Given the description of an element on the screen output the (x, y) to click on. 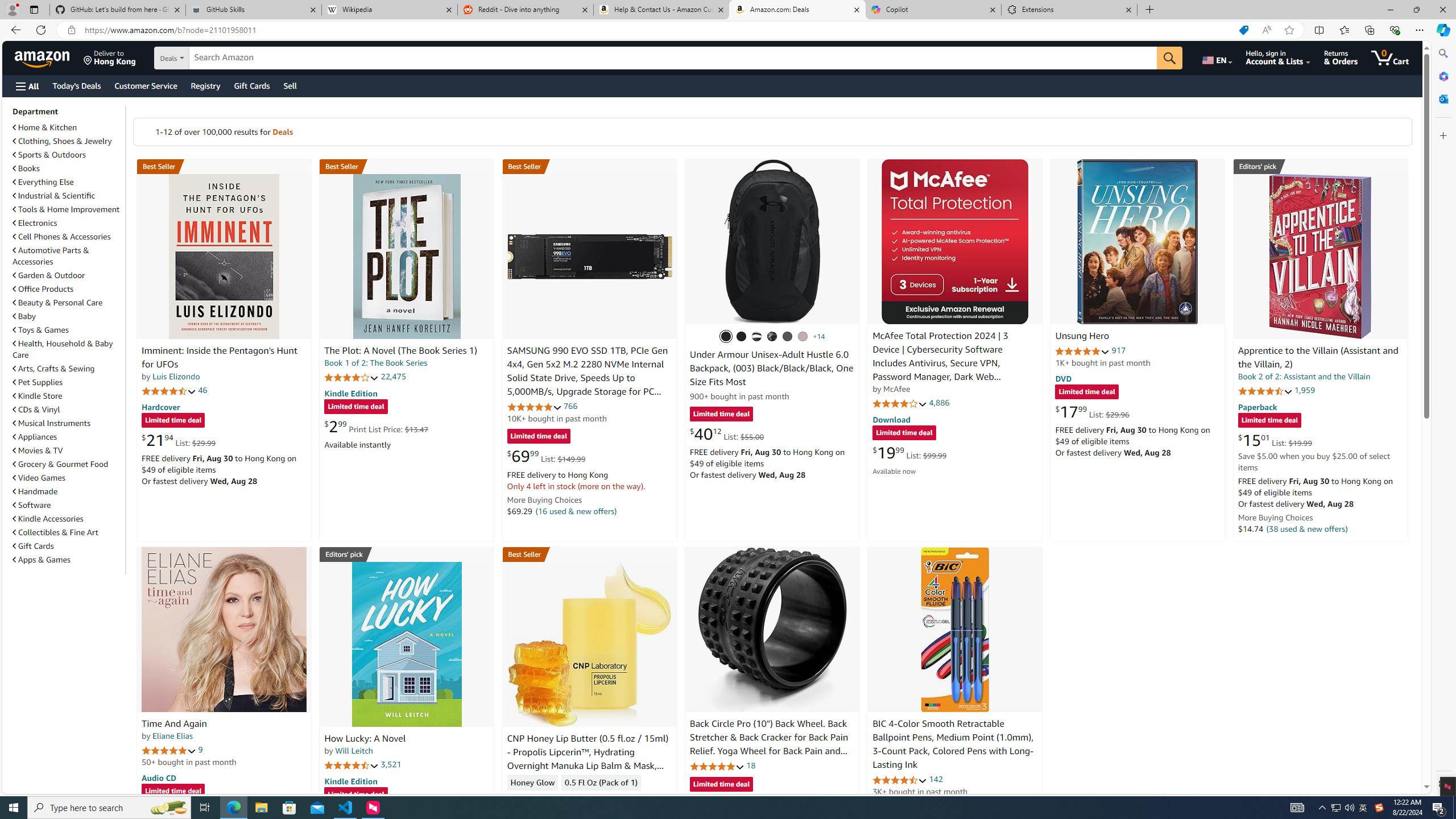
Video Games (67, 477)
Health, Household & Baby Care (67, 348)
46 (203, 390)
Everything Else (67, 181)
Sports & Outdoors (49, 154)
Automotive Parts & Accessories (67, 255)
Movies & TV (37, 450)
Download (891, 419)
Office Products (43, 289)
